Given the description of an element on the screen output the (x, y) to click on. 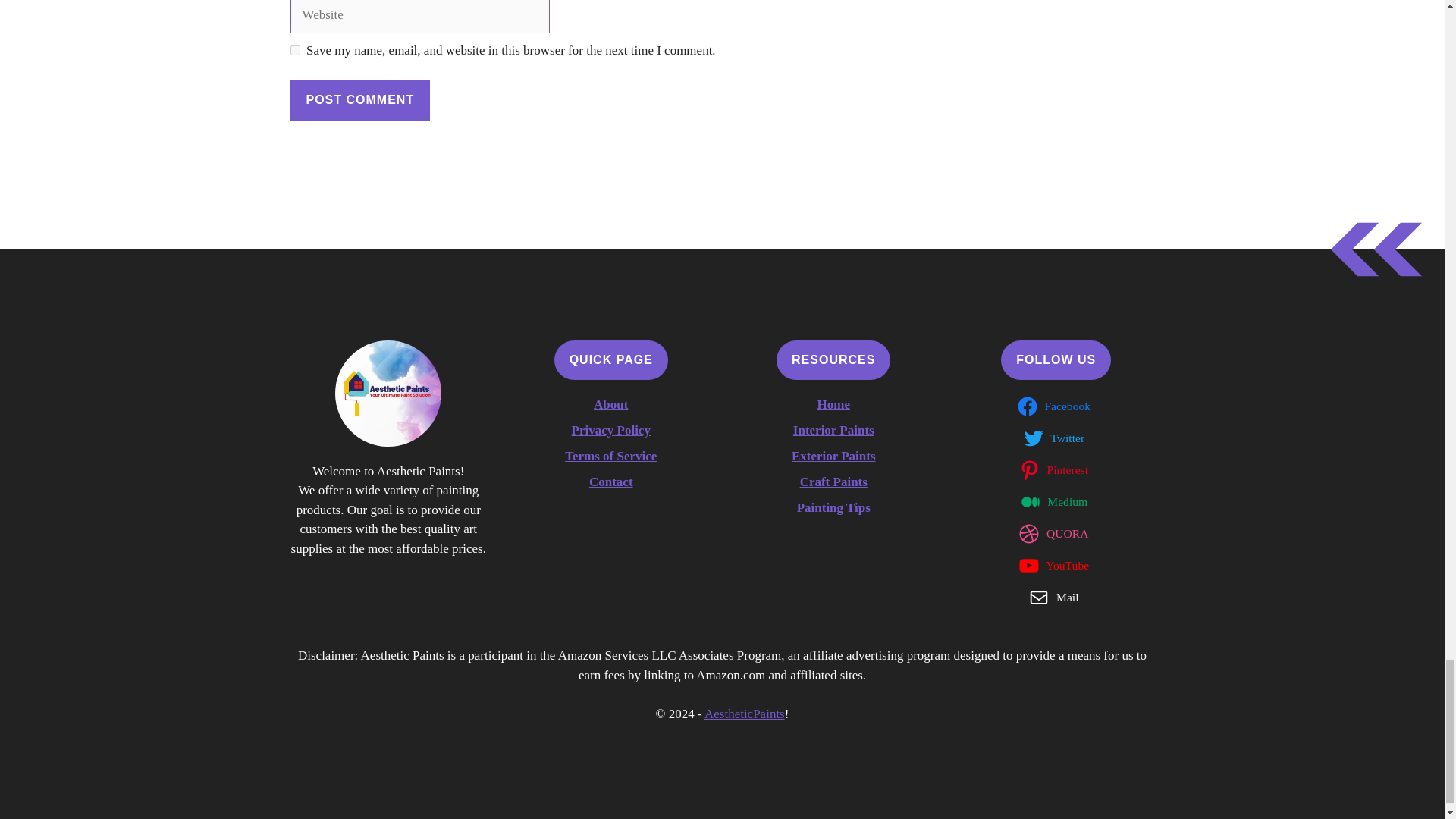
yes (294, 50)
Post Comment (359, 99)
Post Comment (359, 99)
